Given the description of an element on the screen output the (x, y) to click on. 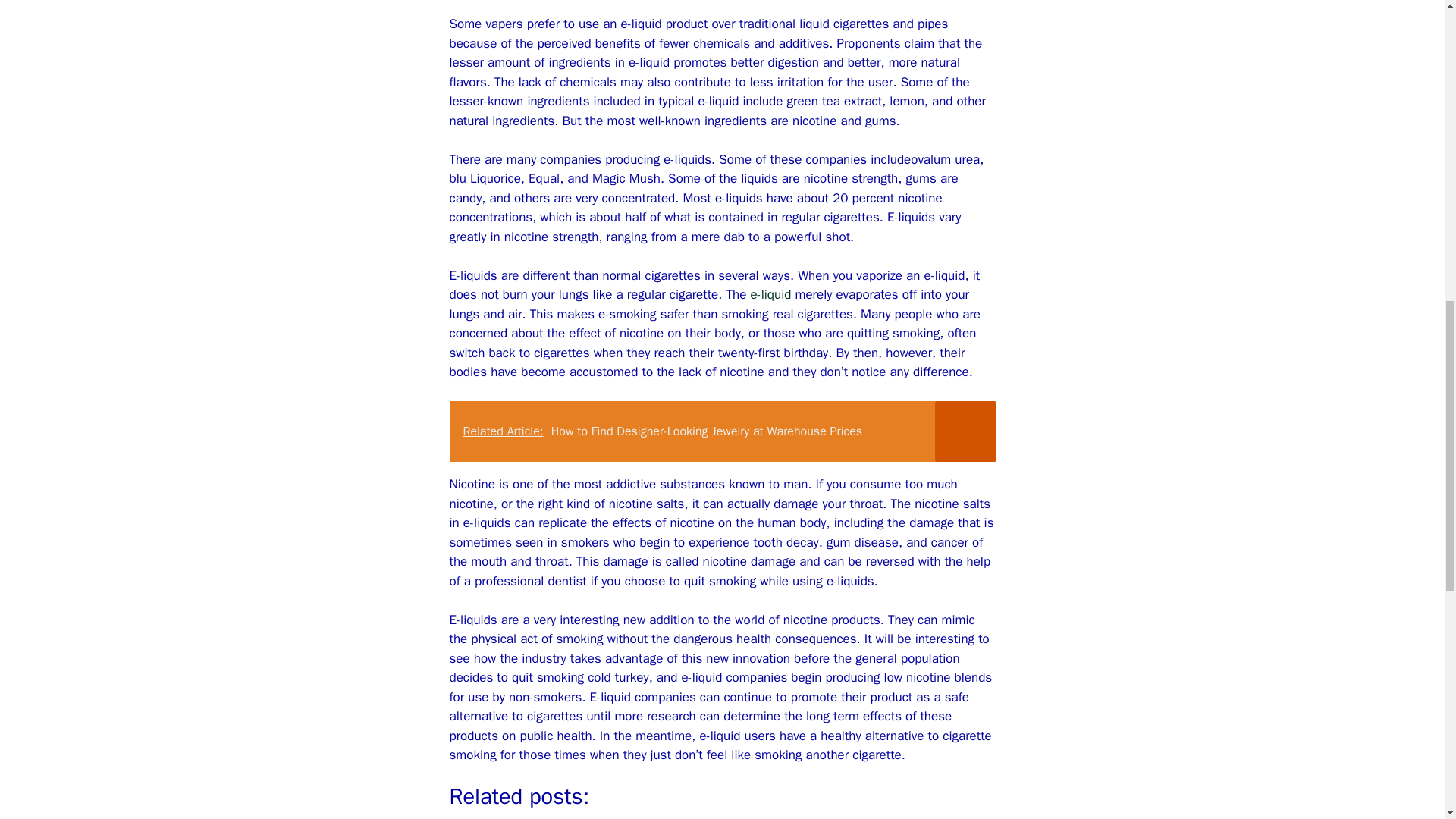
Scroll back to top (1406, 720)
e-liquid (769, 294)
